Given the description of an element on the screen output the (x, y) to click on. 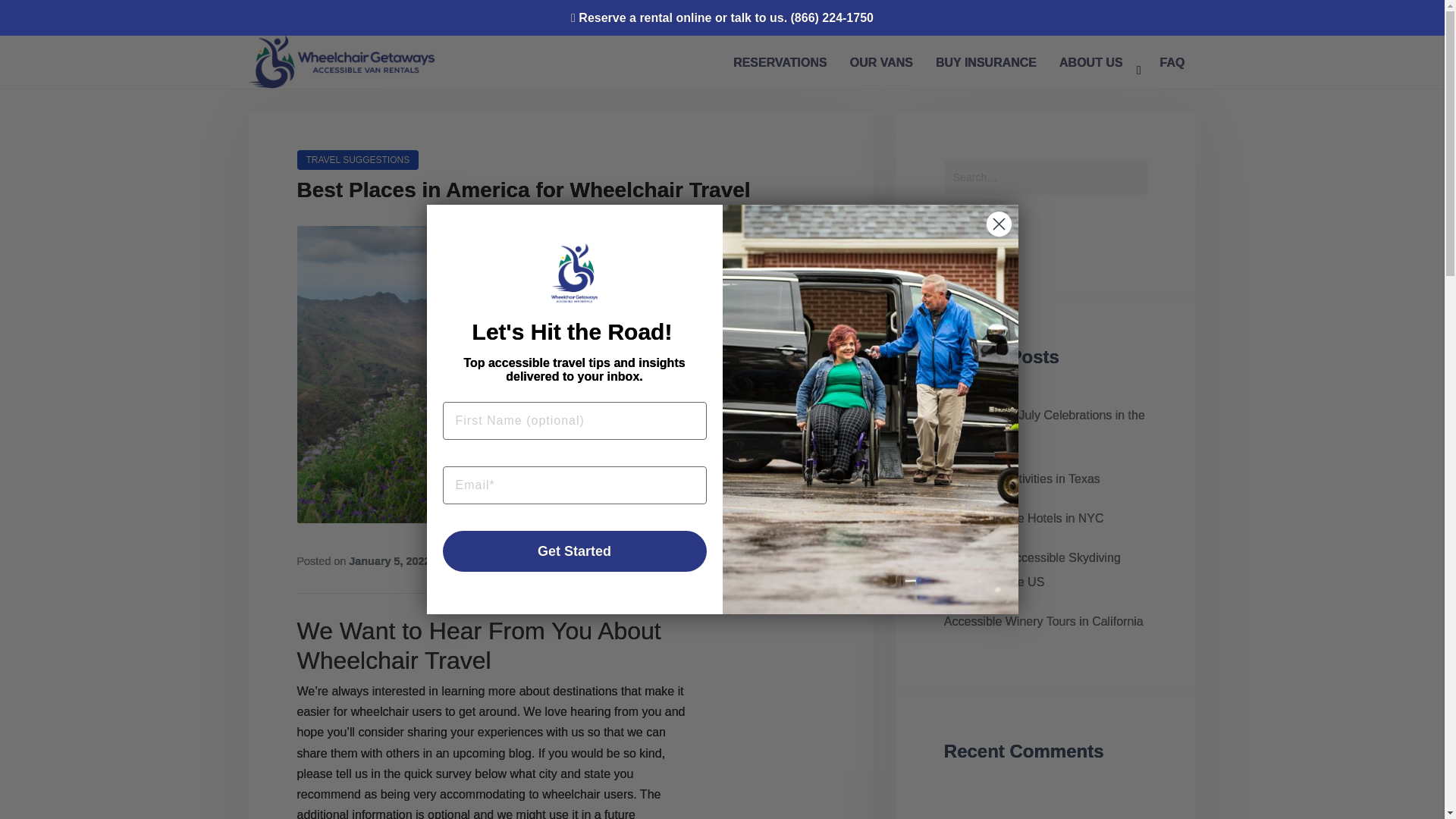
ABOUT US (1098, 62)
FAQ (1172, 62)
BUY INSURANCE (986, 62)
Close dialog 4 (998, 223)
January 5, 2022 (389, 561)
TRAVEL SUGGESTIONS (358, 159)
Login (727, 77)
Best Places in America for Wheelchair Travel (524, 189)
Search (977, 230)
OUR VANS (881, 62)
RESERVATIONS (780, 62)
